Given the description of an element on the screen output the (x, y) to click on. 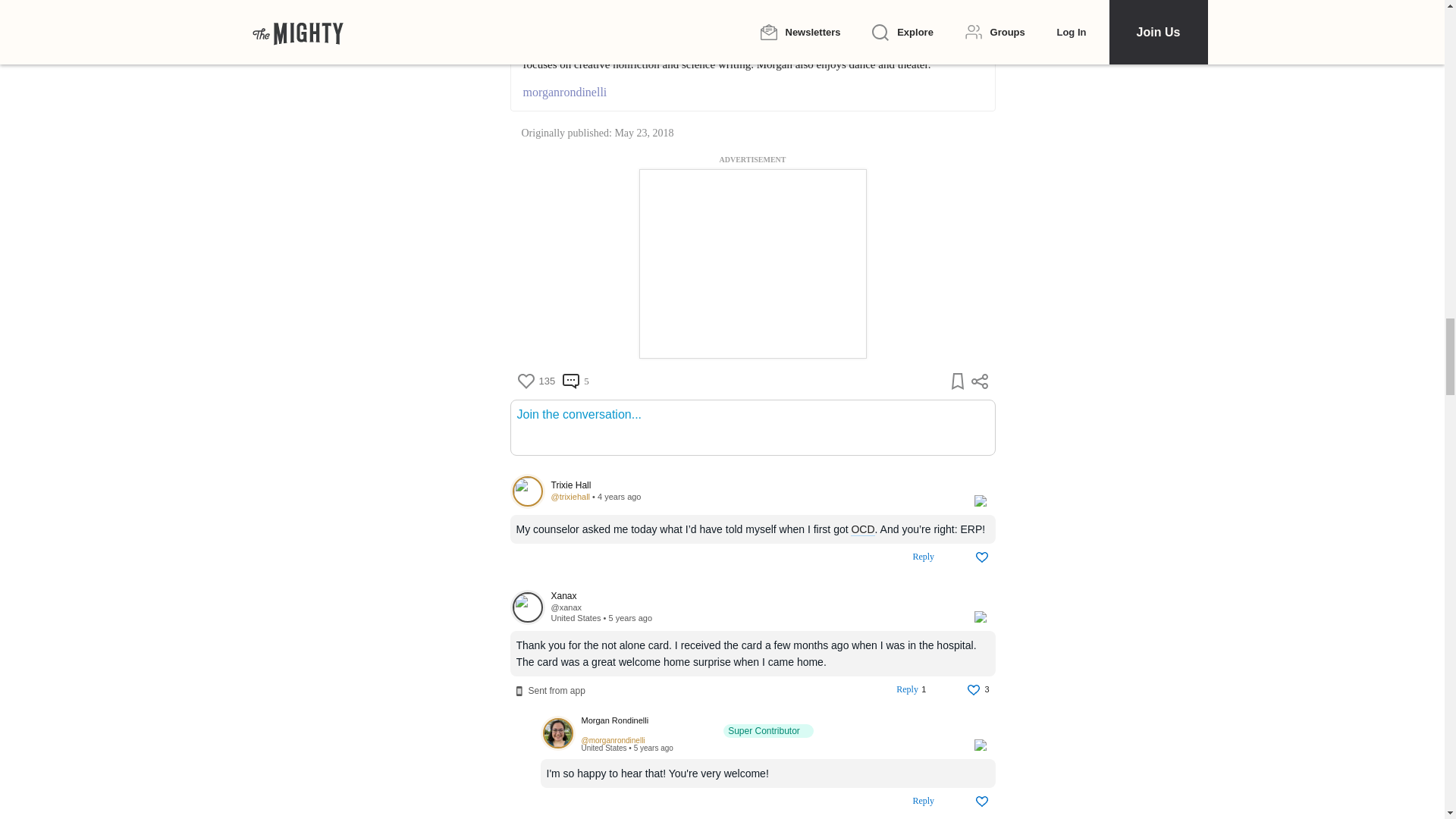
View their profile (569, 496)
OCD (862, 529)
View their profile (754, 596)
View their profile (769, 726)
View their profile (565, 606)
View their profile (557, 733)
View their profile (754, 485)
View their profile (526, 491)
View their profile (526, 606)
